Given the description of an element on the screen output the (x, y) to click on. 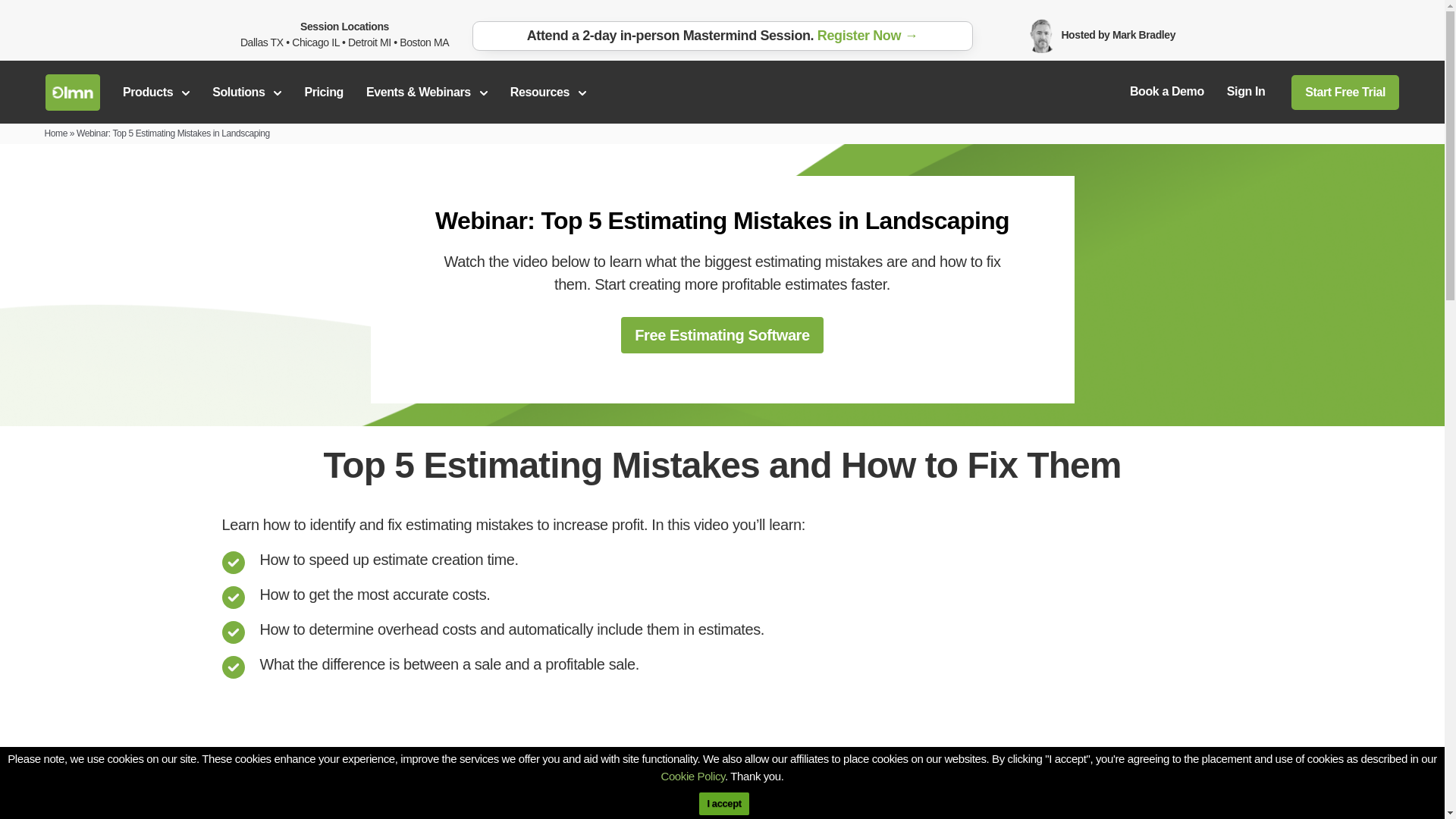
Top 5 Estimating Mistakes In Landscaping (722, 757)
Resources (548, 91)
Pricing (323, 91)
Products (155, 91)
Solutions (246, 91)
